Given the description of an element on the screen output the (x, y) to click on. 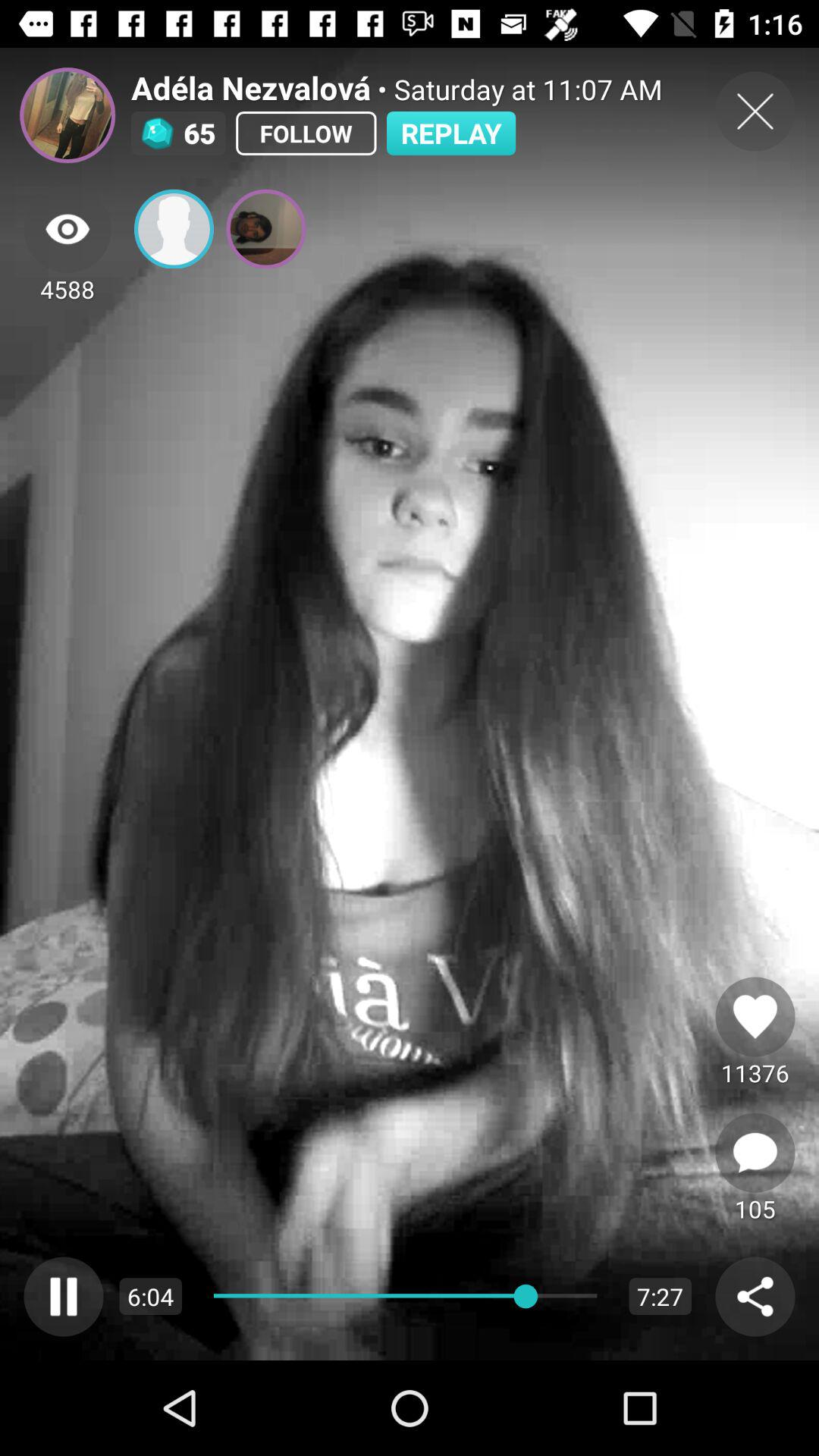
share button (755, 1296)
